Given the description of an element on the screen output the (x, y) to click on. 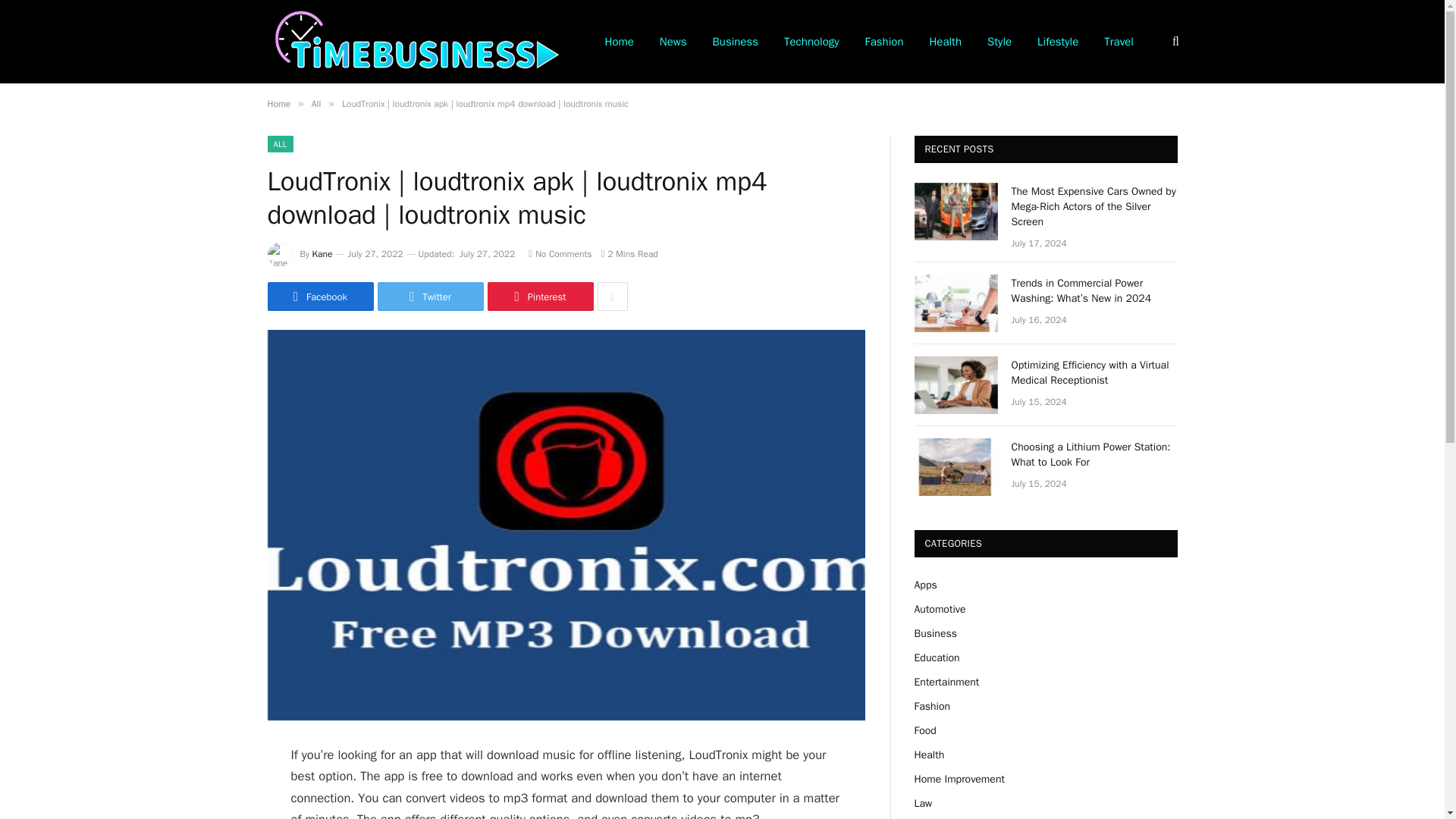
Show More Social Sharing (611, 296)
Style (999, 41)
ALL (279, 143)
Search (1174, 41)
Home (618, 41)
Twitter (430, 296)
Share on Facebook (319, 296)
No Comments (559, 254)
Lifestyle (1057, 41)
All (315, 103)
Kane (323, 254)
Timebusiness.info (415, 41)
Technology (811, 41)
Business (735, 41)
Travel (1118, 41)
